Given the description of an element on the screen output the (x, y) to click on. 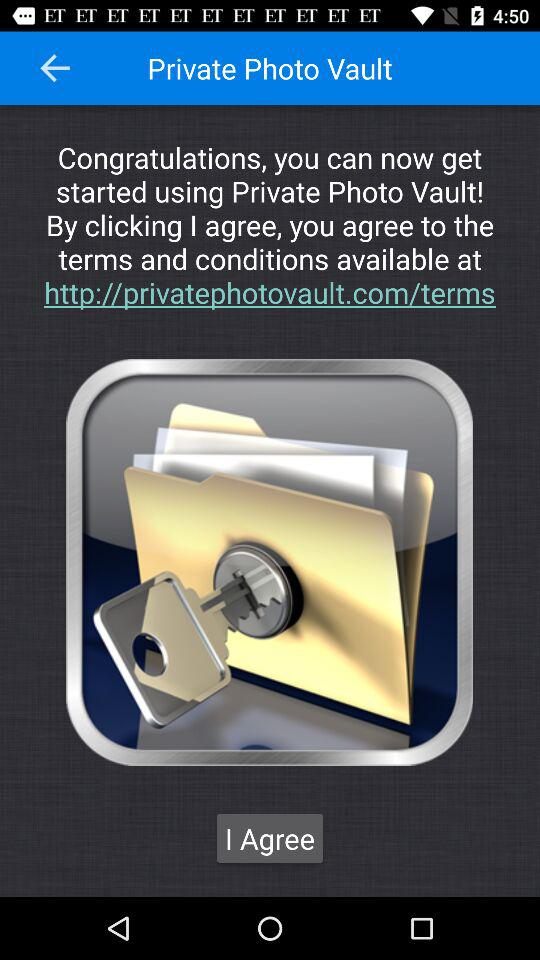
open the item to the left of private photo vault icon (55, 68)
